Given the description of an element on the screen output the (x, y) to click on. 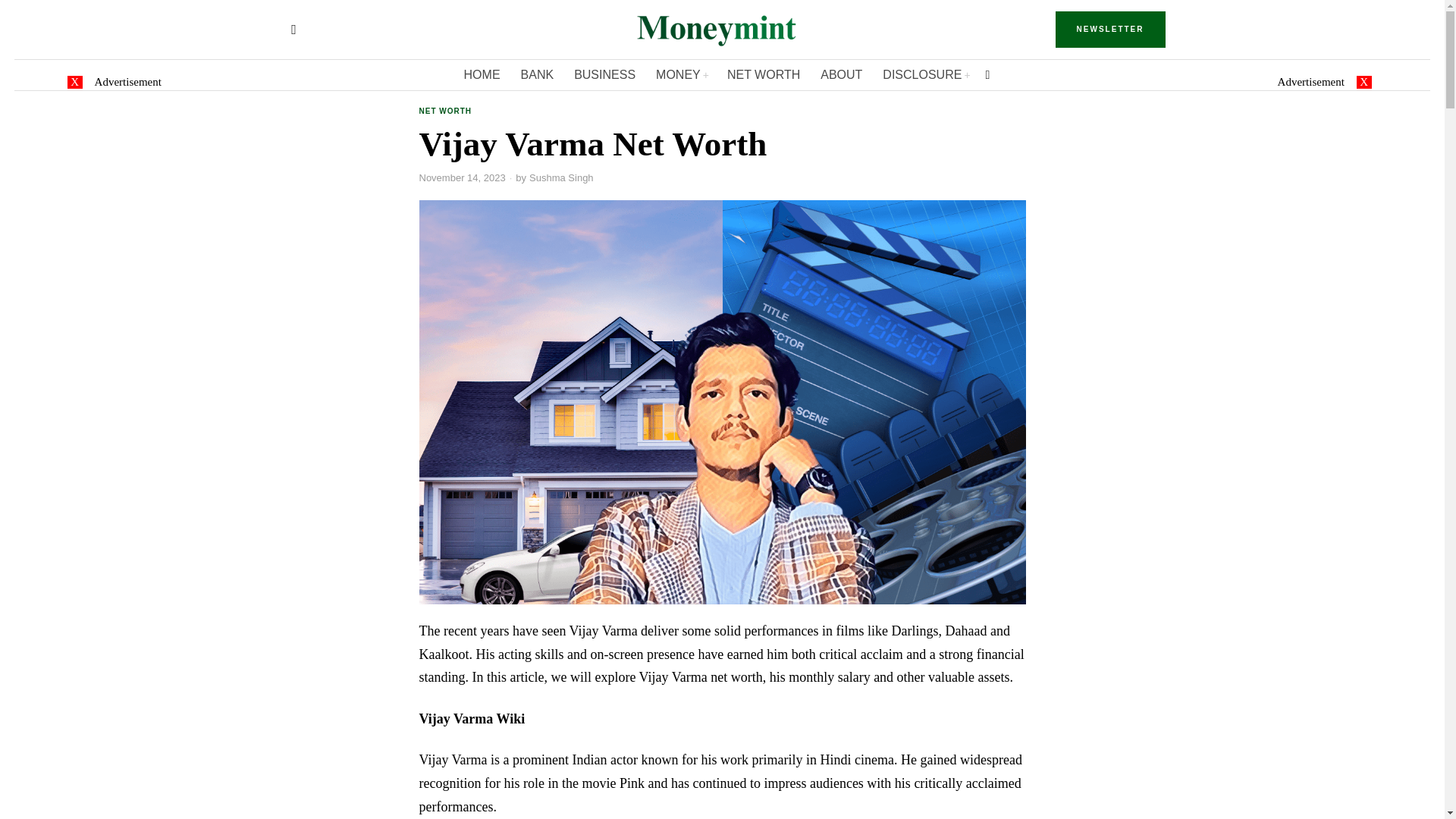
MONEY (681, 74)
ABOUT (841, 74)
NEWSLETTER (1110, 29)
NET WORTH (763, 74)
14 Nov, 2023 13:09:10 (462, 178)
BANK (539, 74)
NET WORTH (445, 111)
BUSINESS (605, 74)
Sushma Singh (561, 178)
HOME (483, 74)
